Given the description of an element on the screen output the (x, y) to click on. 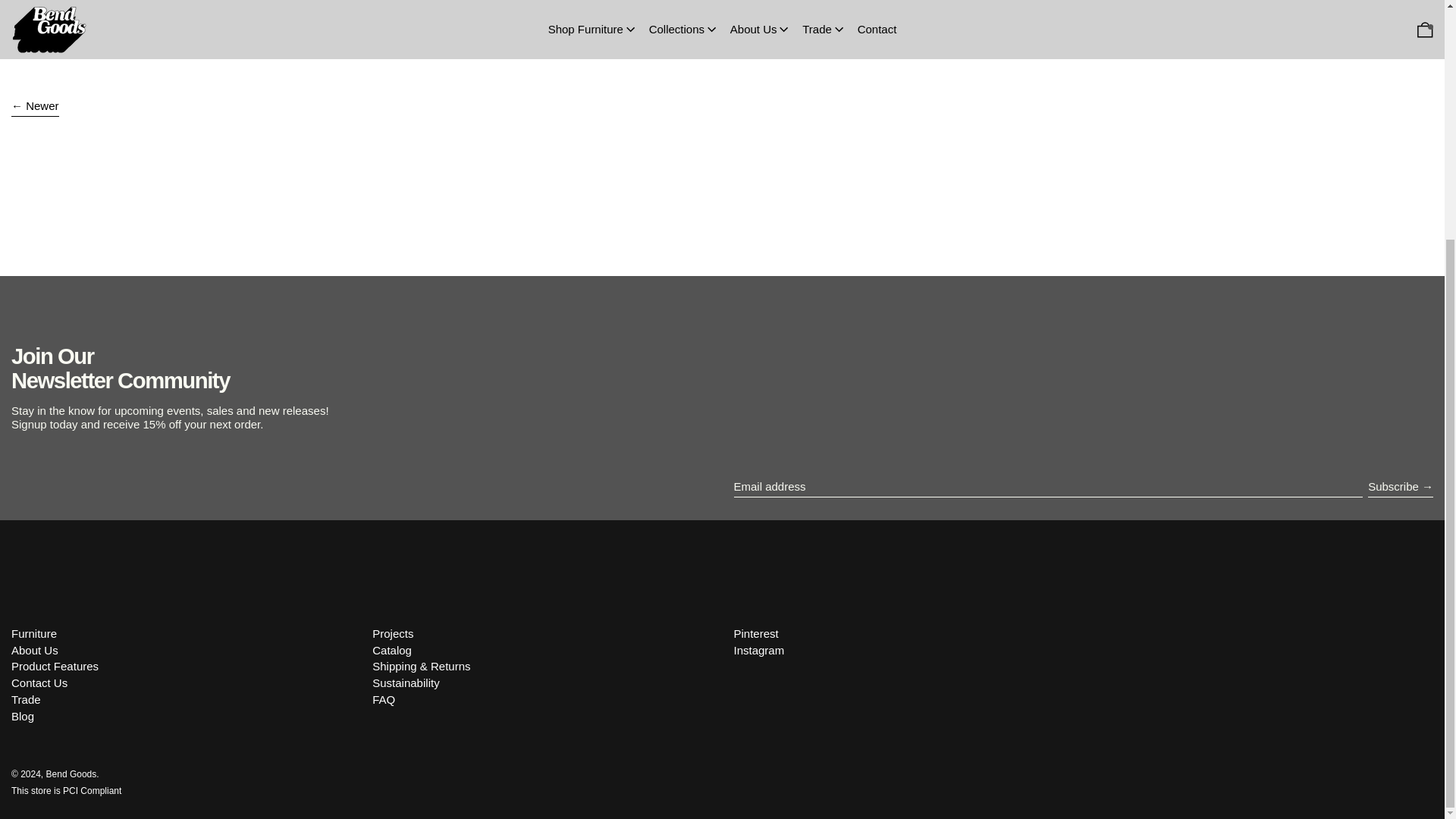
Product Features (55, 666)
Newer (35, 108)
Contact Us (38, 682)
Furniture (33, 633)
Trade (25, 698)
Blog (22, 716)
Subscribe (1400, 486)
Newer (35, 108)
Projects (392, 633)
About Us (34, 649)
